Given the description of an element on the screen output the (x, y) to click on. 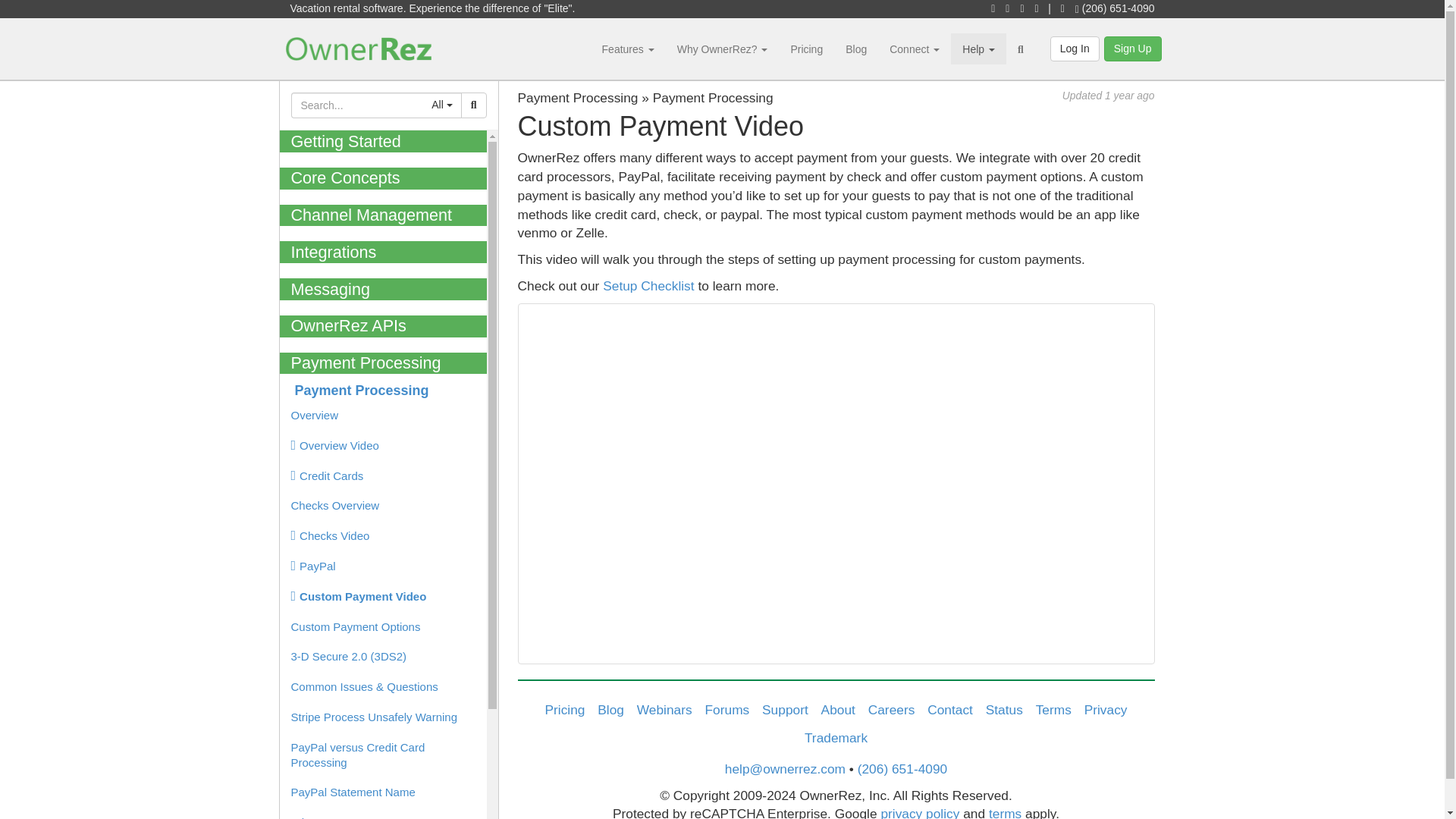
Blog (855, 48)
Log In (1074, 49)
Pricing (806, 48)
Features (628, 48)
Connect (913, 48)
All (441, 104)
Sign Up (1132, 49)
Why OwnerRez? (721, 48)
